Given the description of an element on the screen output the (x, y) to click on. 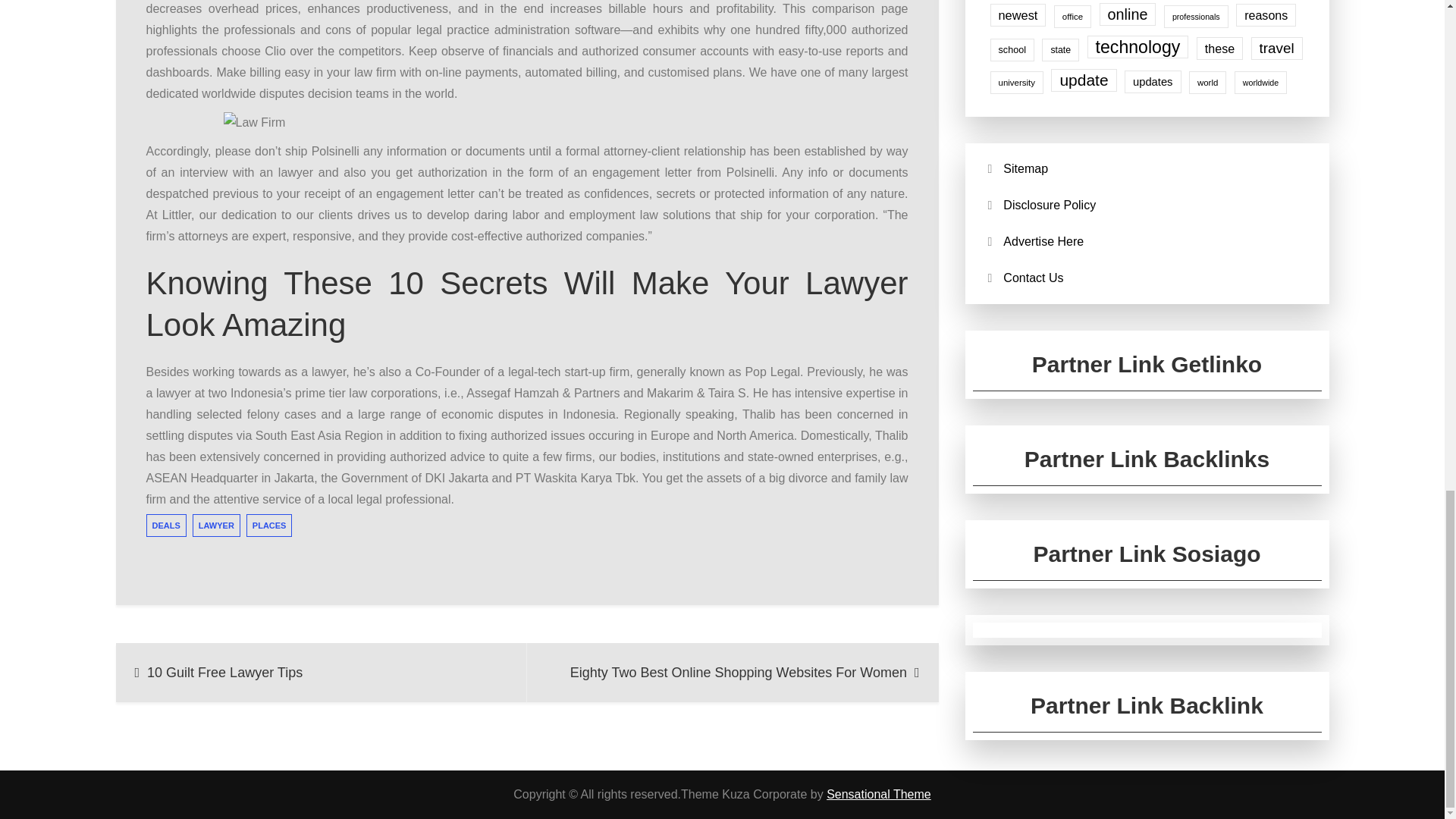
Eighty Two Best Online Shopping Websites For Women (733, 671)
LAWYER (216, 525)
PLACES (269, 525)
10 Guilt Free Lawyer Tips (321, 671)
DEALS (165, 525)
